Given the description of an element on the screen output the (x, y) to click on. 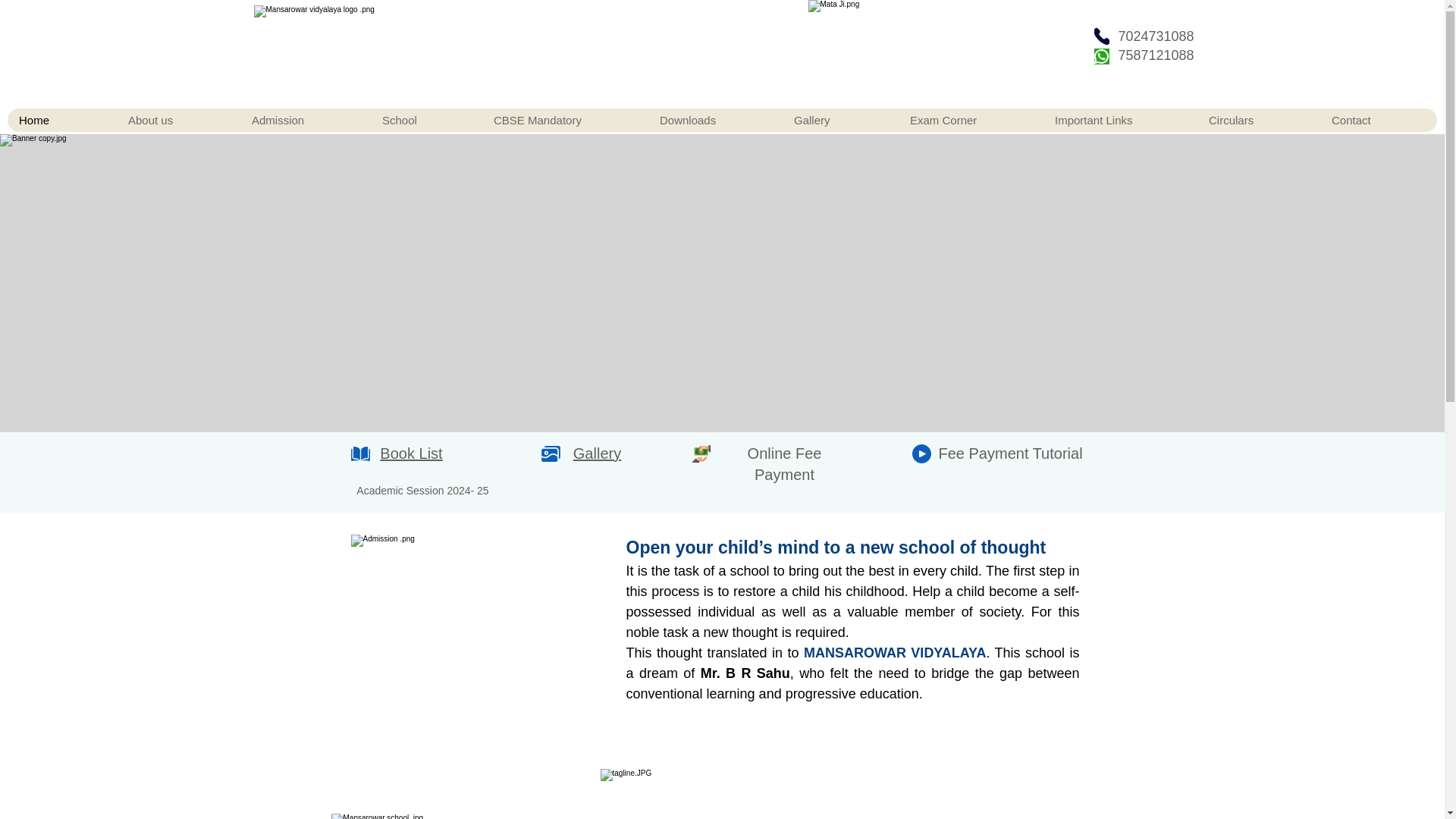
Contact (1378, 119)
Admission (304, 119)
Important Links (1119, 119)
About us (178, 119)
Book List (411, 453)
Exam Corner (970, 119)
Online Fee Payment (785, 464)
CBSE Mandatory (564, 119)
Circulars (1257, 119)
Downloads (714, 119)
